Given the description of an element on the screen output the (x, y) to click on. 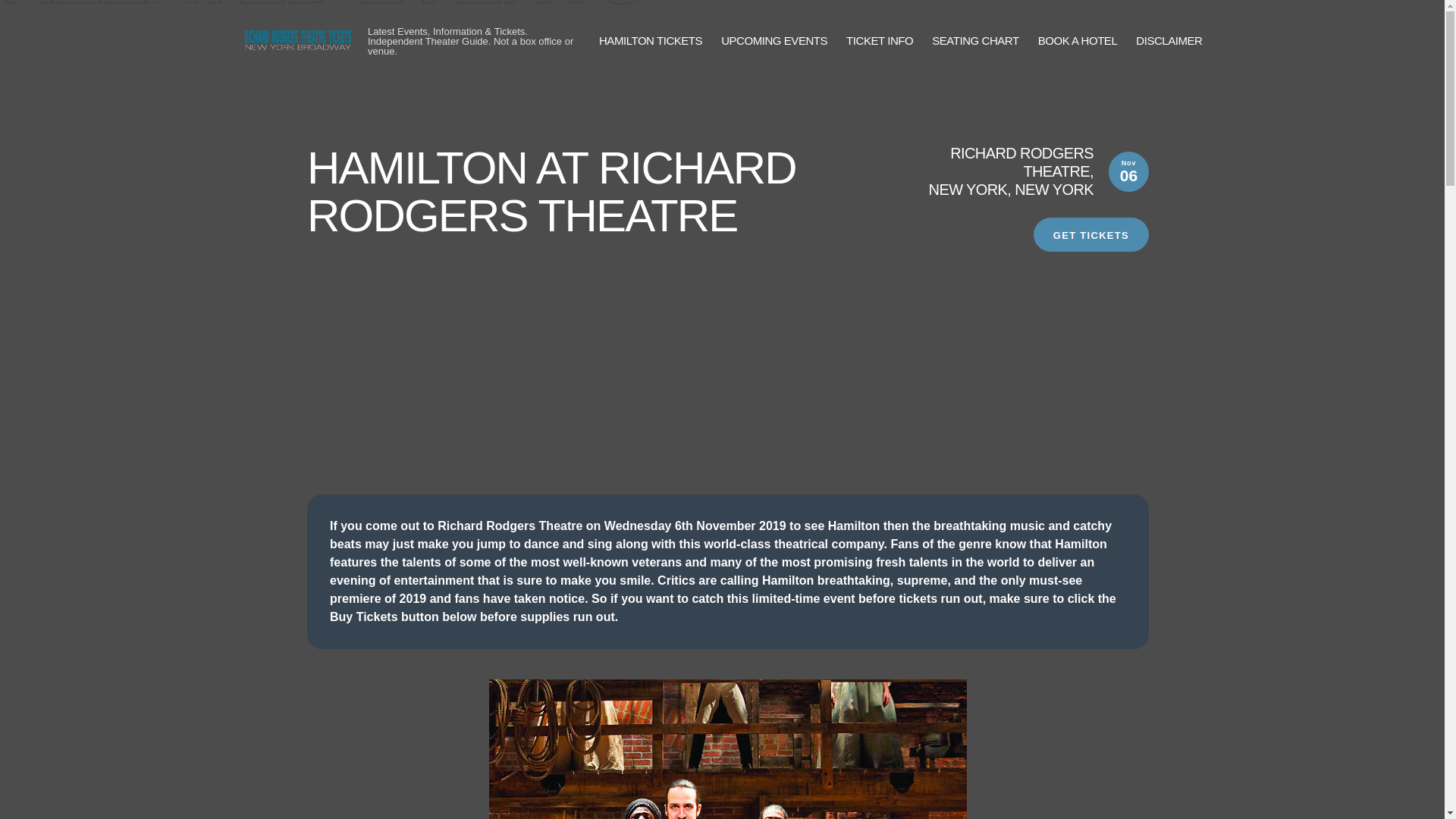
HAMILTON TICKETS (649, 40)
GET TICKETS (1090, 234)
TICKET INFO (878, 40)
Hamilton at Richard Rodgers Theatre (727, 749)
UPCOMING EVENTS (773, 40)
DISCLAIMER (1168, 40)
SEATING CHART (974, 40)
BOOK A HOTEL (1078, 40)
